Given the description of an element on the screen output the (x, y) to click on. 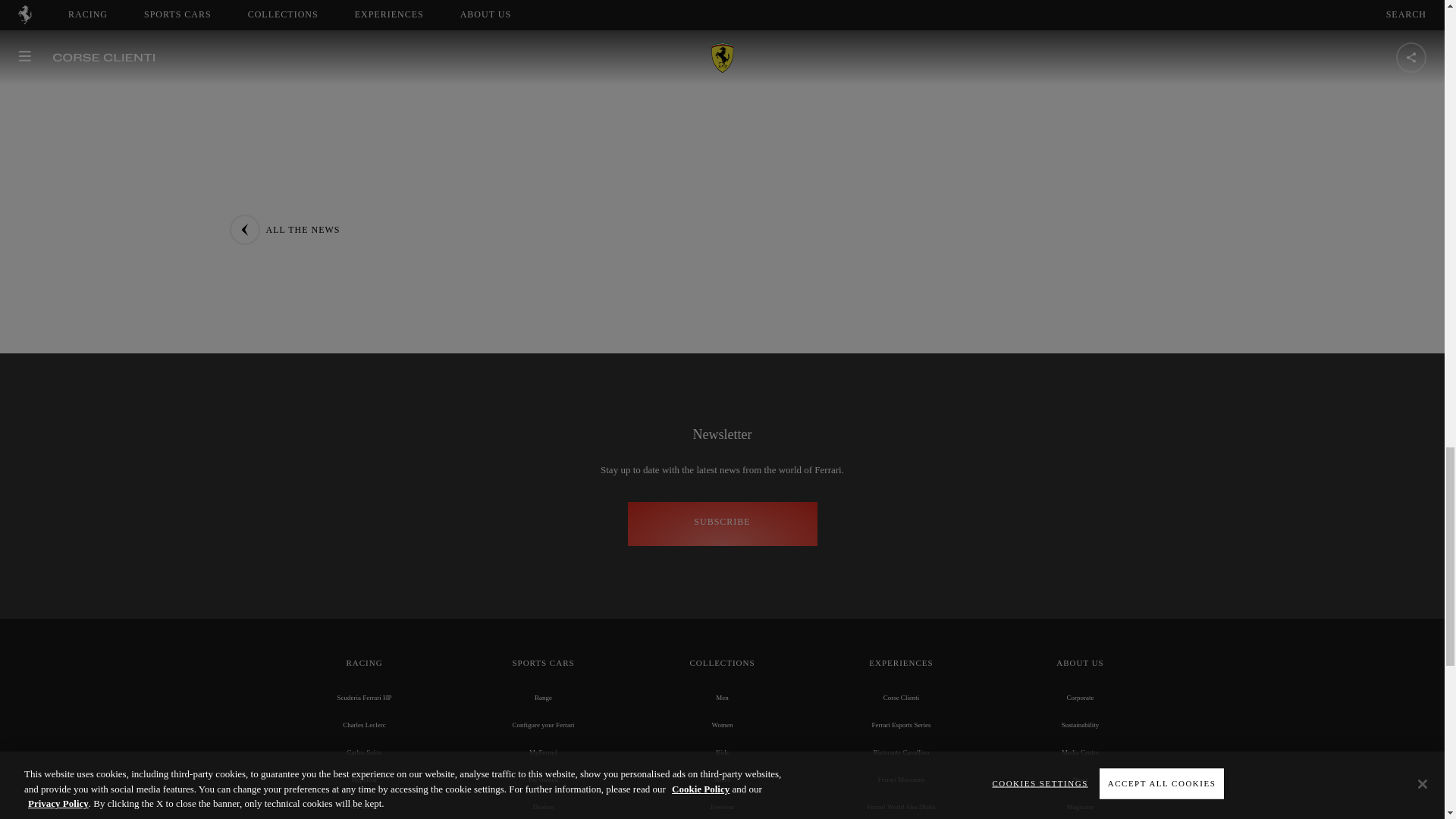
Hypercar (364, 778)
Pre-owned (542, 778)
Scuderia Ferrari HP (363, 697)
SUBSCRIBE (721, 523)
GT Series (363, 806)
Range (542, 697)
Carlos Sainz (364, 751)
Dealers (542, 806)
MyFerrari (543, 751)
Configure your Ferrari (543, 724)
